Given the description of an element on the screen output the (x, y) to click on. 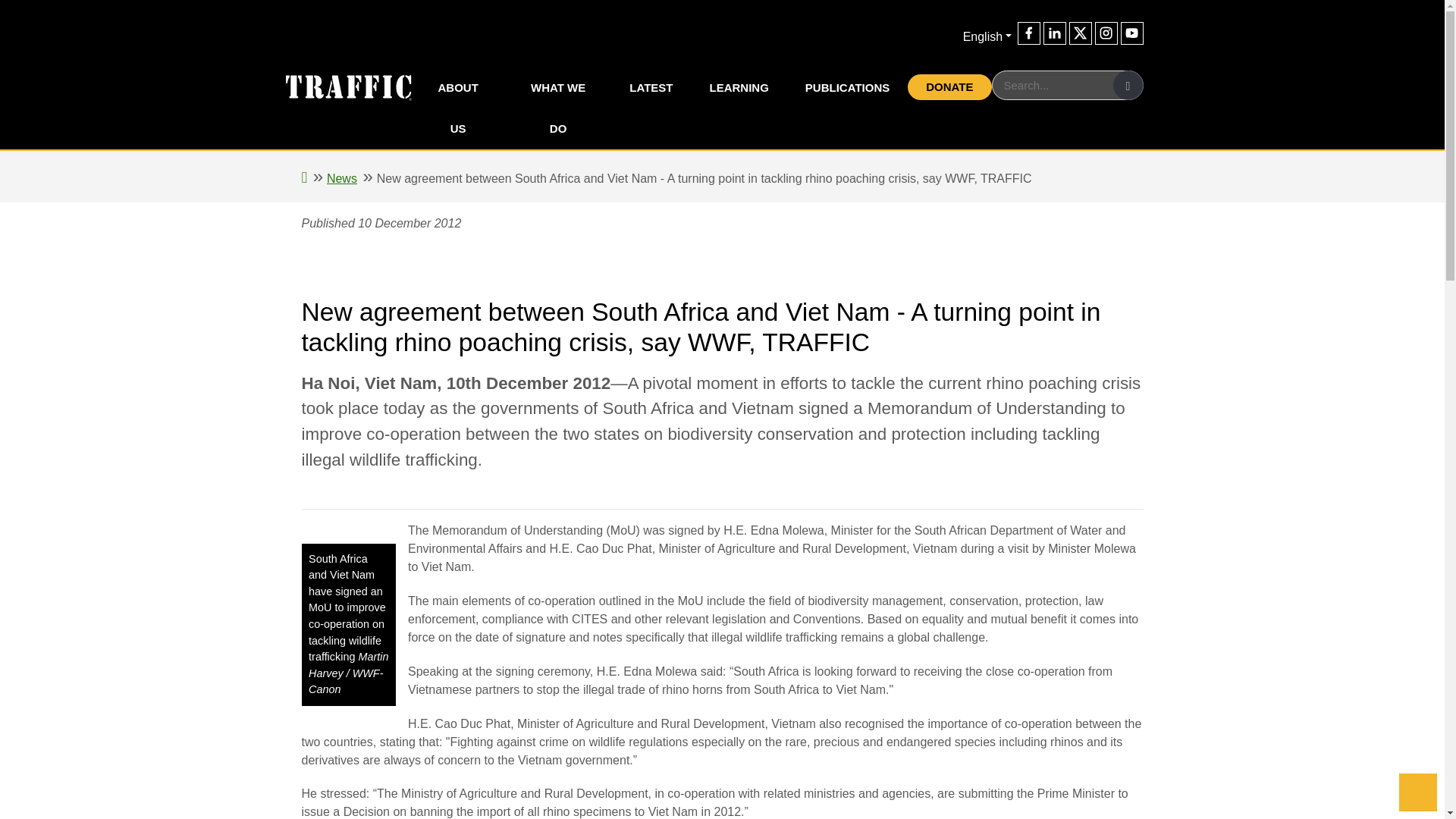
LATEST (650, 87)
News (341, 178)
DONATE (949, 86)
English (986, 36)
Visit our YouTube Channel (1131, 33)
back to top (1418, 792)
ABOUT US (456, 108)
Follow us on Twitter (1080, 33)
LEARNING (739, 87)
PUBLICATIONS (847, 87)
